Given the description of an element on the screen output the (x, y) to click on. 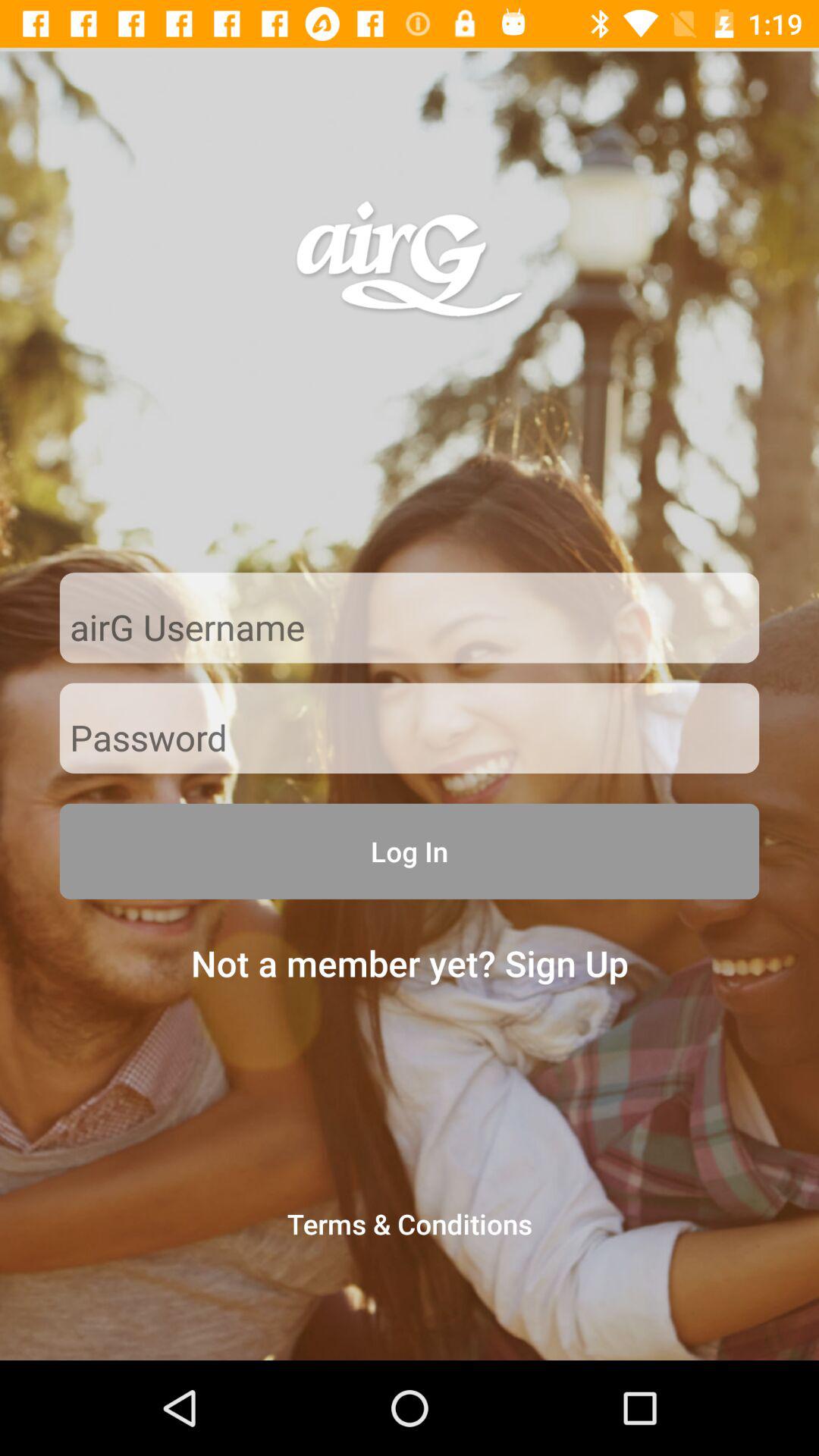
enter airg username (409, 628)
